Given the description of an element on the screen output the (x, y) to click on. 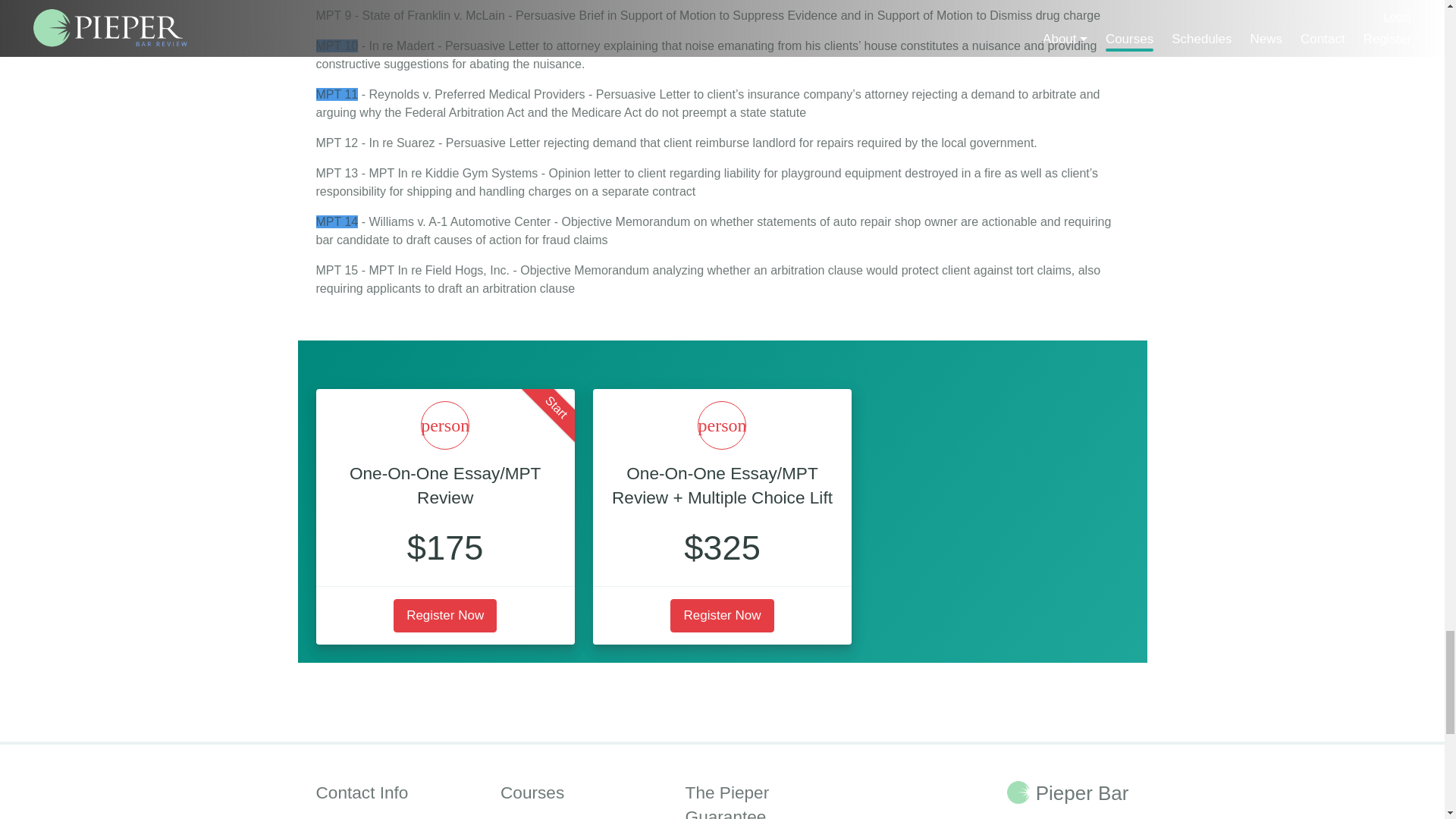
Register Now (721, 615)
Register Now (444, 615)
